Given the description of an element on the screen output the (x, y) to click on. 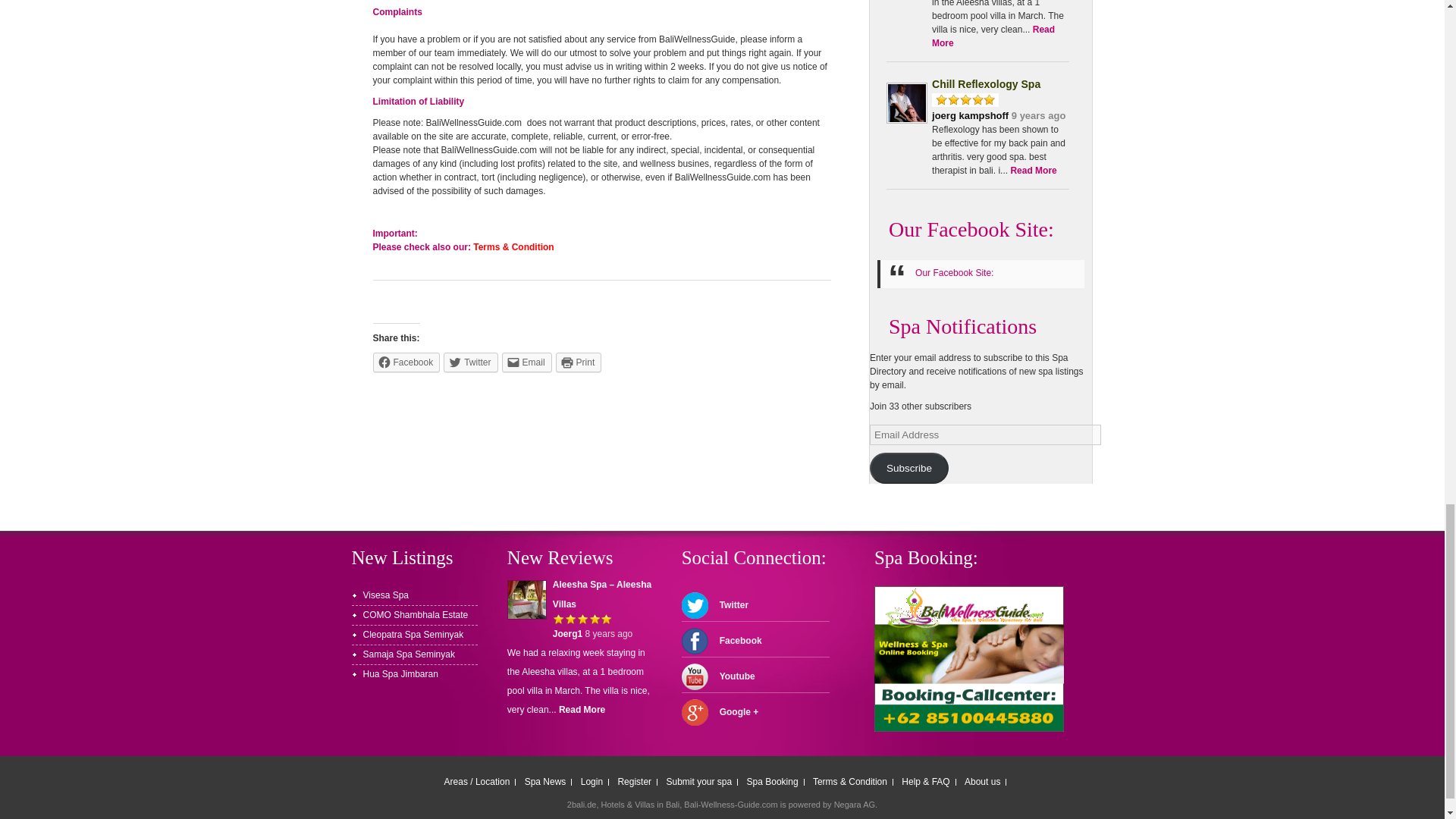
Click to share on Facebook (406, 362)
Click to share on Twitter (470, 362)
Twitter (470, 362)
Facebook (406, 362)
